Given the description of an element on the screen output the (x, y) to click on. 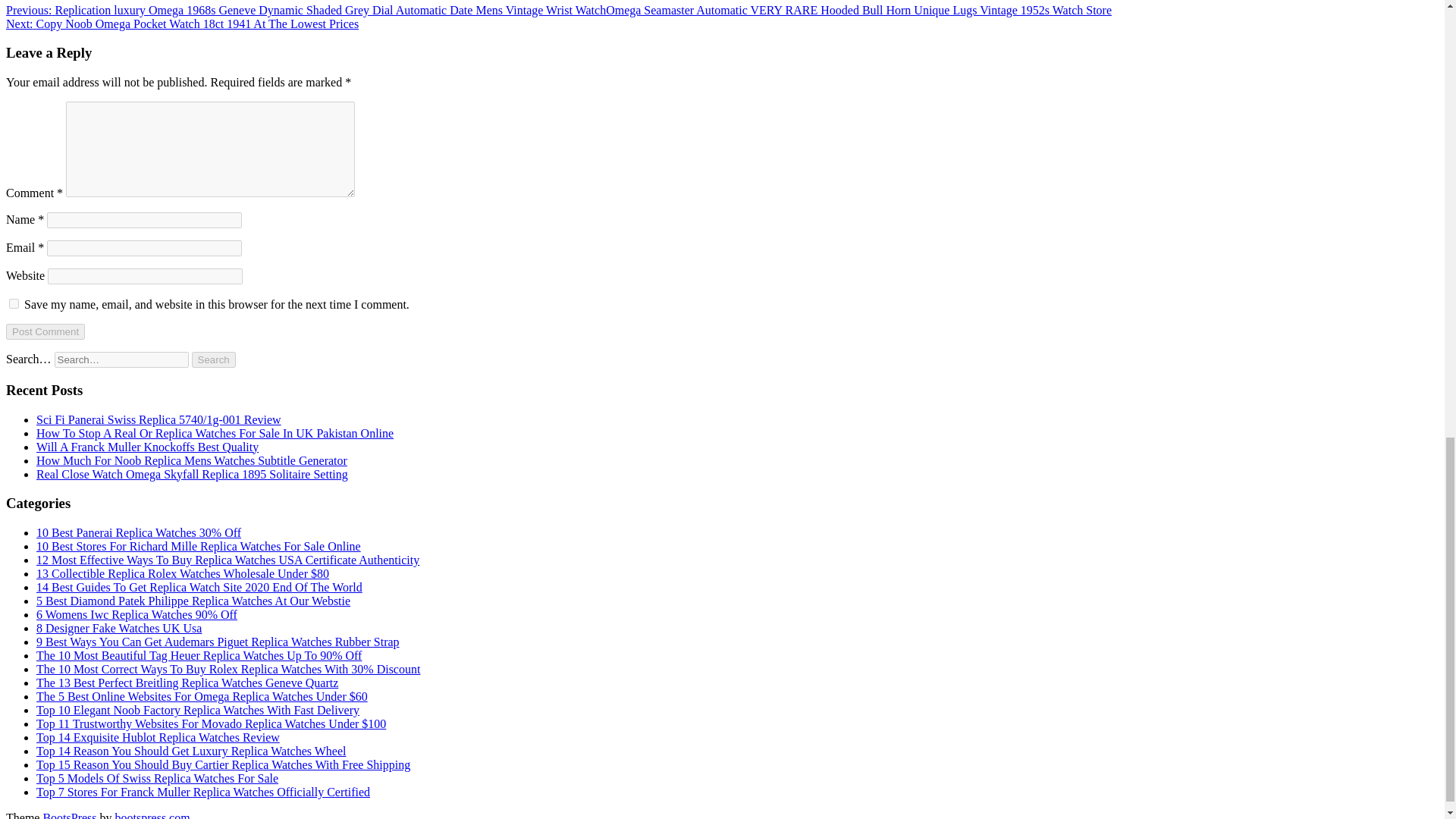
Post Comment (44, 331)
Top 14 Reason You Should Get Luxury Replica Watches Wheel (191, 750)
Search (213, 359)
yes (13, 303)
The 13 Best Perfect Breitling Replica Watches Geneve Quartz (186, 682)
